Given the description of an element on the screen output the (x, y) to click on. 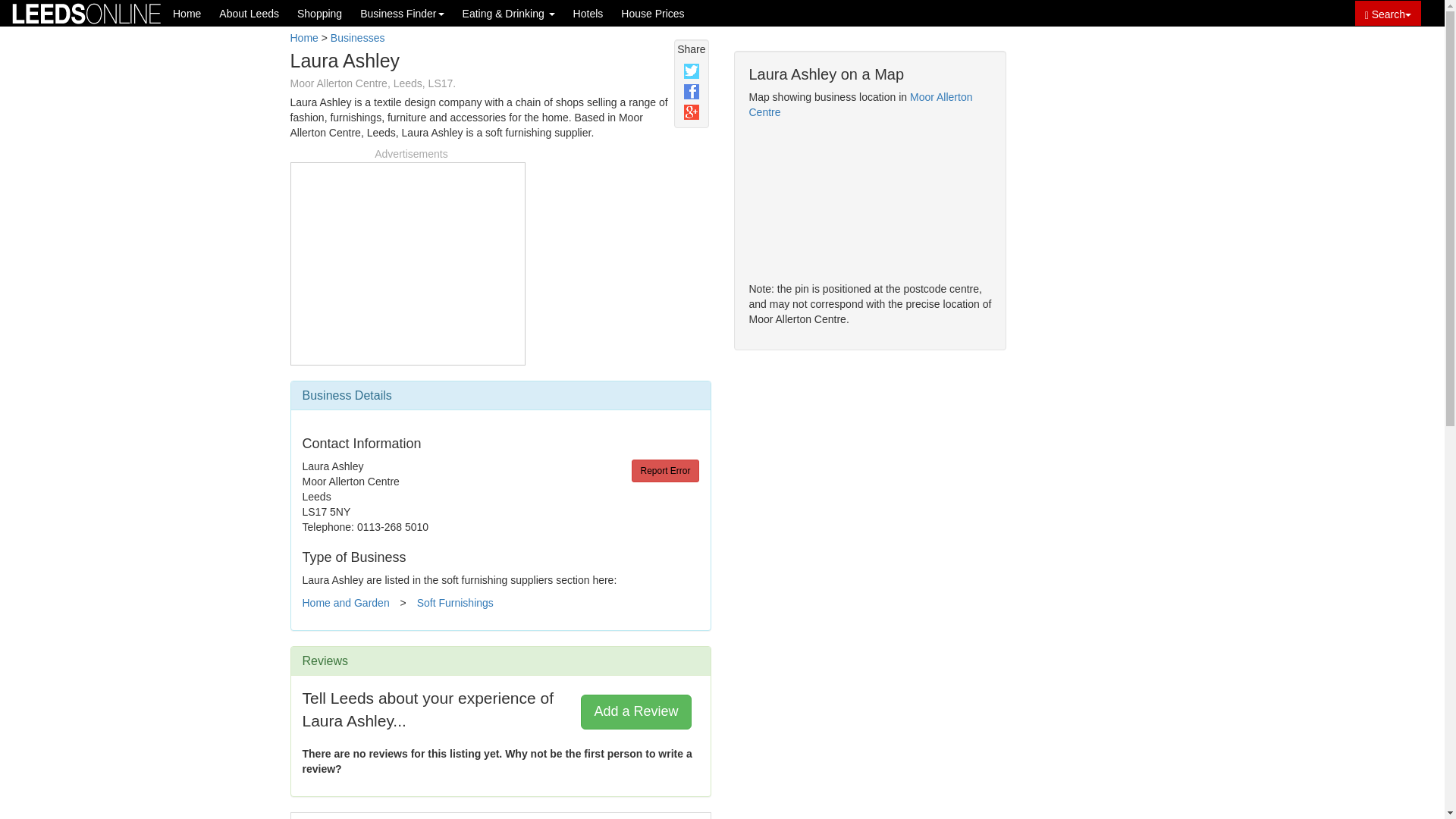
About Leeds (248, 12)
Moor Allerton Centre (860, 103)
Add a Review (635, 711)
Report Error (664, 470)
Hotels (588, 12)
Soft Furnishings (454, 603)
Report Error (664, 470)
Business Finder (401, 12)
Shopping (319, 12)
Businesses (357, 37)
Home (303, 37)
Advertisement (407, 261)
Home and Garden (344, 603)
Home (186, 12)
House Prices (652, 12)
